Given the description of an element on the screen output the (x, y) to click on. 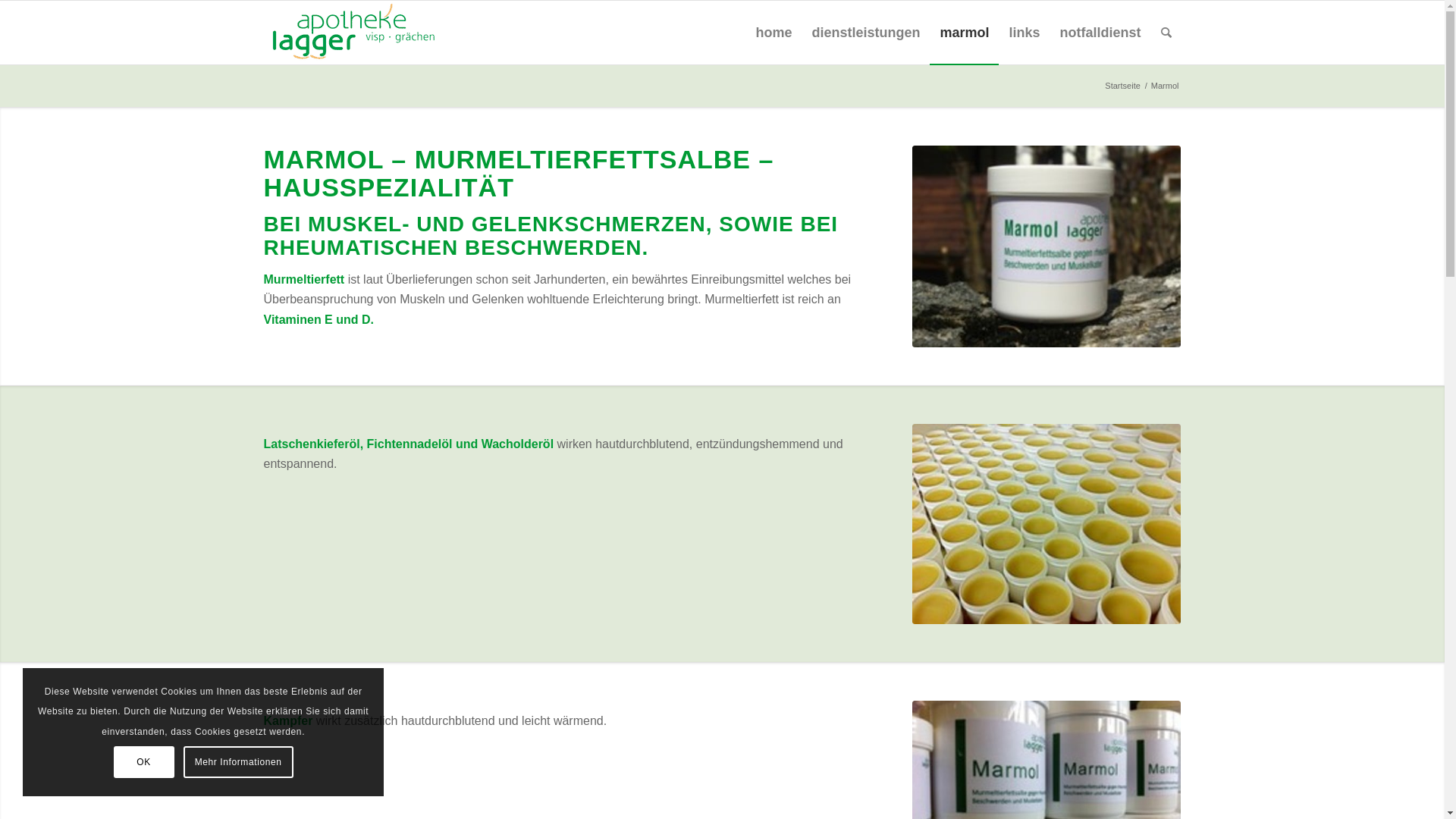
links Element type: text (1023, 32)
dienstleistungen Element type: text (865, 32)
home Element type: text (773, 32)
marmol Element type: text (963, 32)
OK Element type: text (143, 762)
Mehr Informationen Element type: text (238, 762)
notfalldienst Element type: text (1099, 32)
Marmol2 Element type: hover (1046, 523)
apotheke-lagger Element type: hover (352, 32)
Startseite Element type: text (1122, 85)
Marmol_mini Element type: hover (1046, 246)
